Given the description of an element on the screen output the (x, y) to click on. 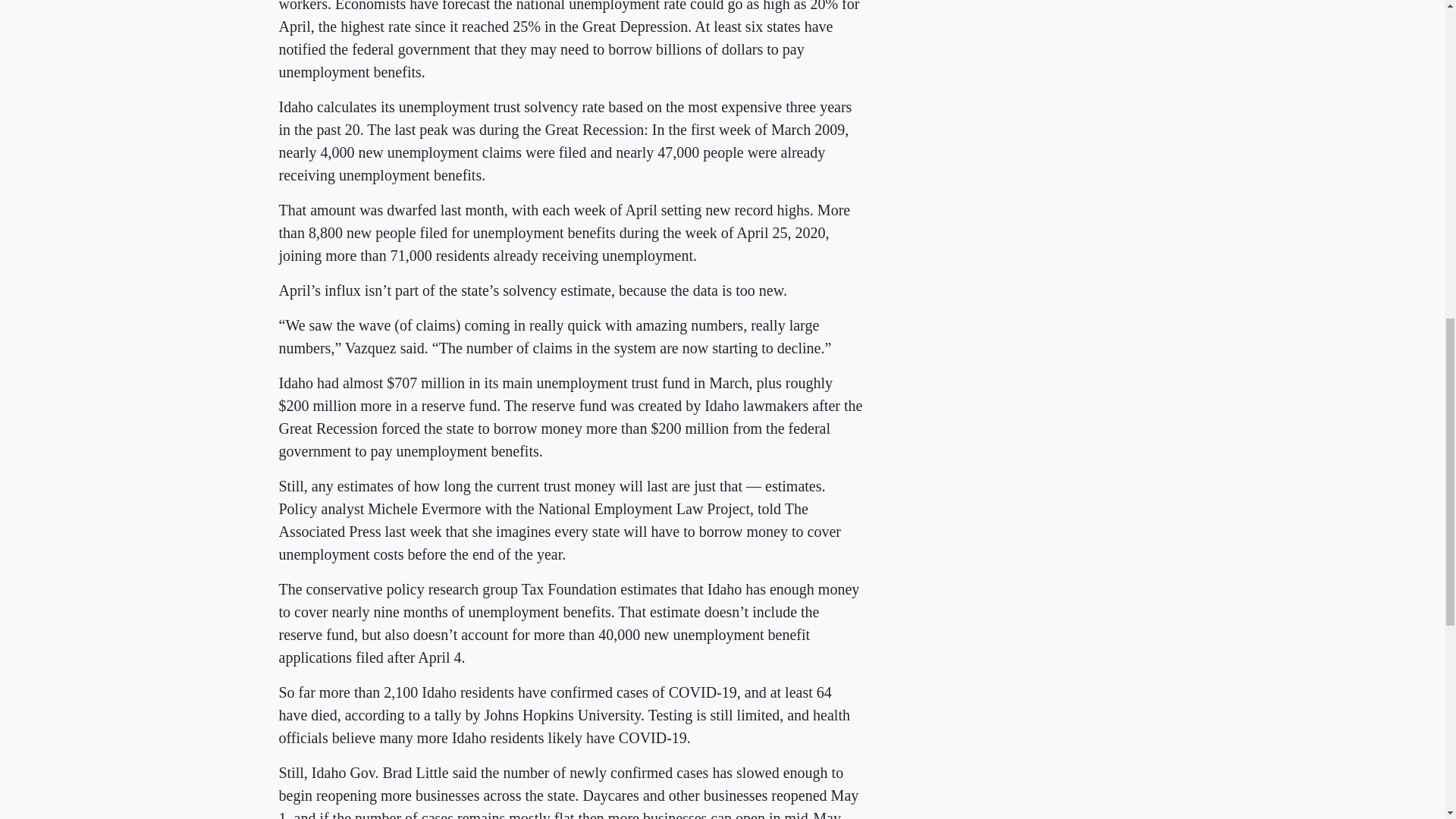
3rd party ad content (1052, 49)
3rd party ad content (1052, 207)
